Given the description of an element on the screen output the (x, y) to click on. 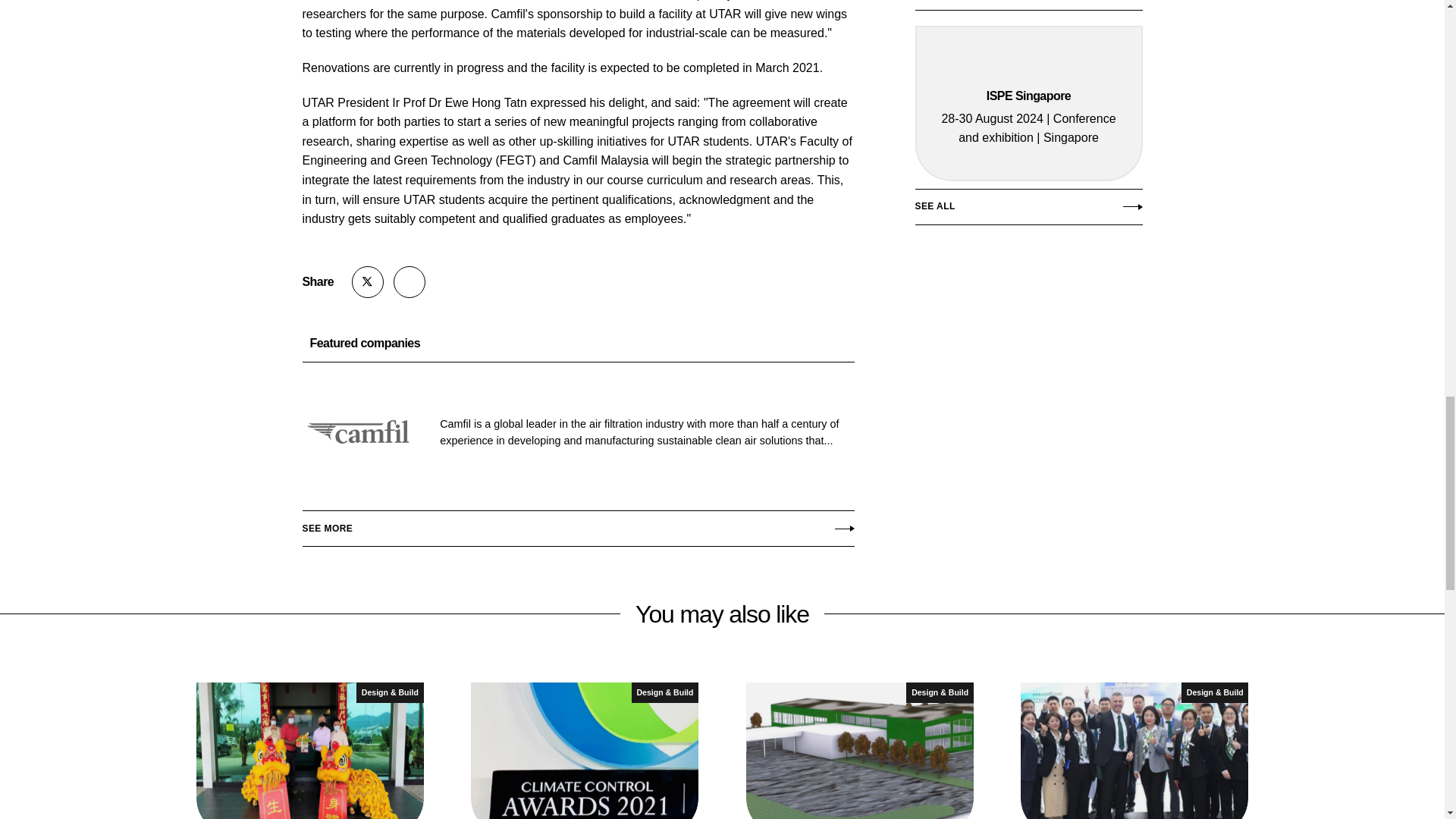
X (368, 282)
SEE MORE (577, 524)
Follow Cleanroom Technology on LinkedIn (409, 282)
LinkedIn (409, 282)
Follow Cleanroom Technology on X (368, 282)
